Given the description of an element on the screen output the (x, y) to click on. 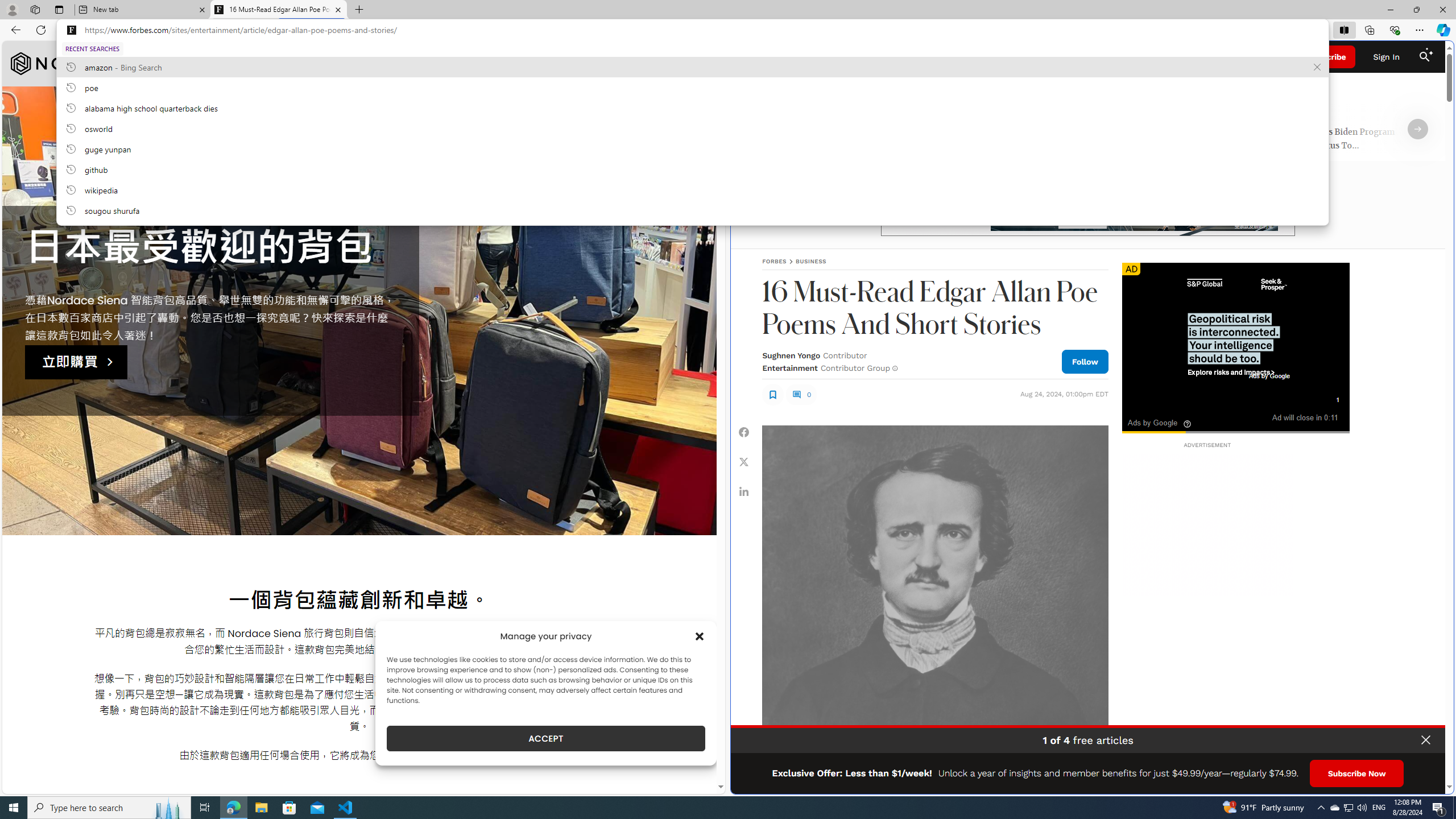
github, recent searches from history (691, 168)
Pause (SPACE) (1135, 416)
16 Must-Read Edgar Allan Poe Poems And Short Stories (277, 9)
Subscribe Now (1356, 773)
Seek (1235, 431)
Share Twitter (743, 461)
Forbes Logo (1088, 56)
Class: article-sharing__item (743, 490)
